Given the description of an element on the screen output the (x, y) to click on. 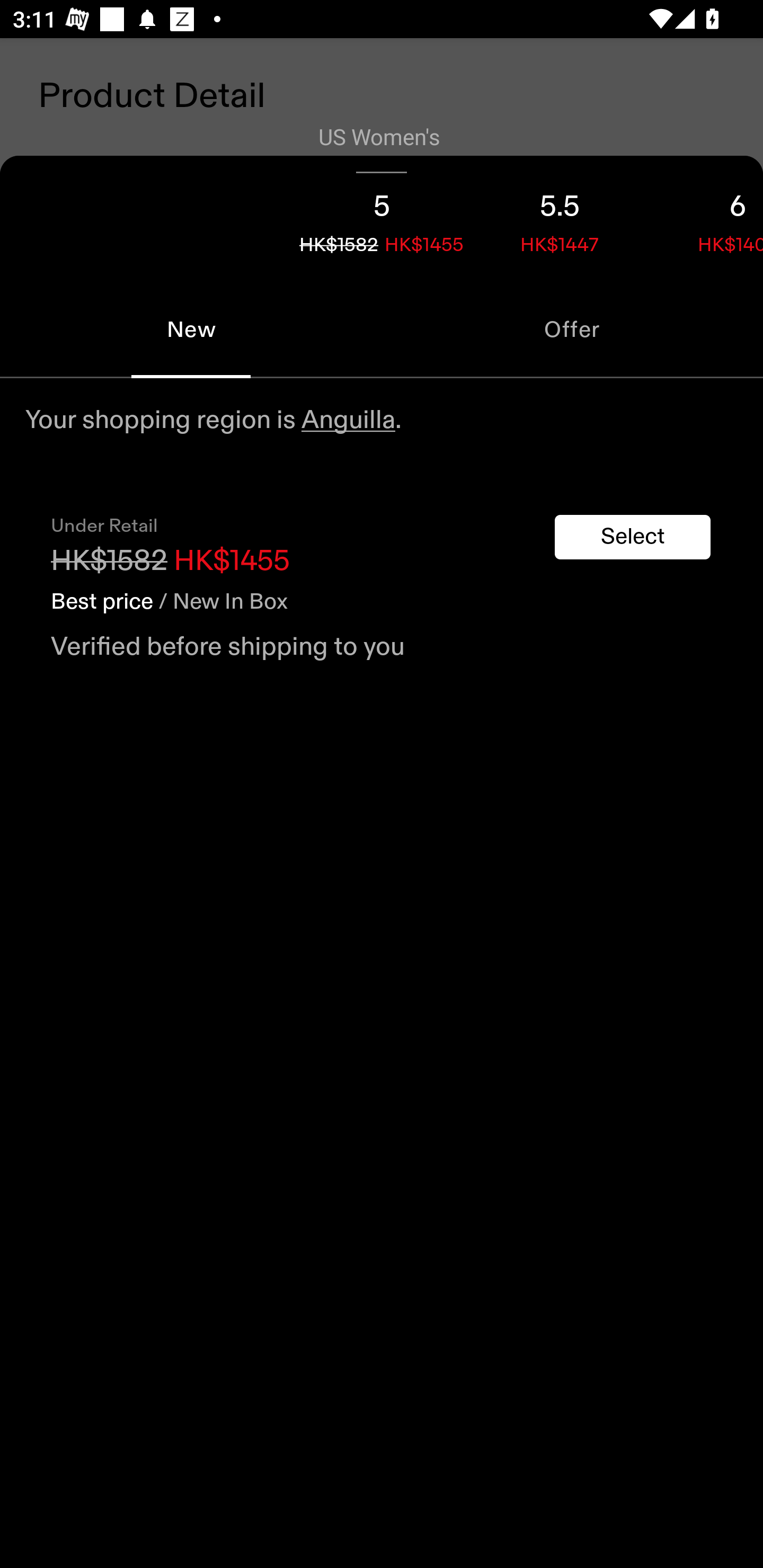
5 HK$1582 HK$1455 (381, 218)
5.5 HK$1447 (559, 218)
6 HK$1400 (705, 218)
Offer (572, 329)
Select (632, 536)
Sell (152, 606)
